Given the description of an element on the screen output the (x, y) to click on. 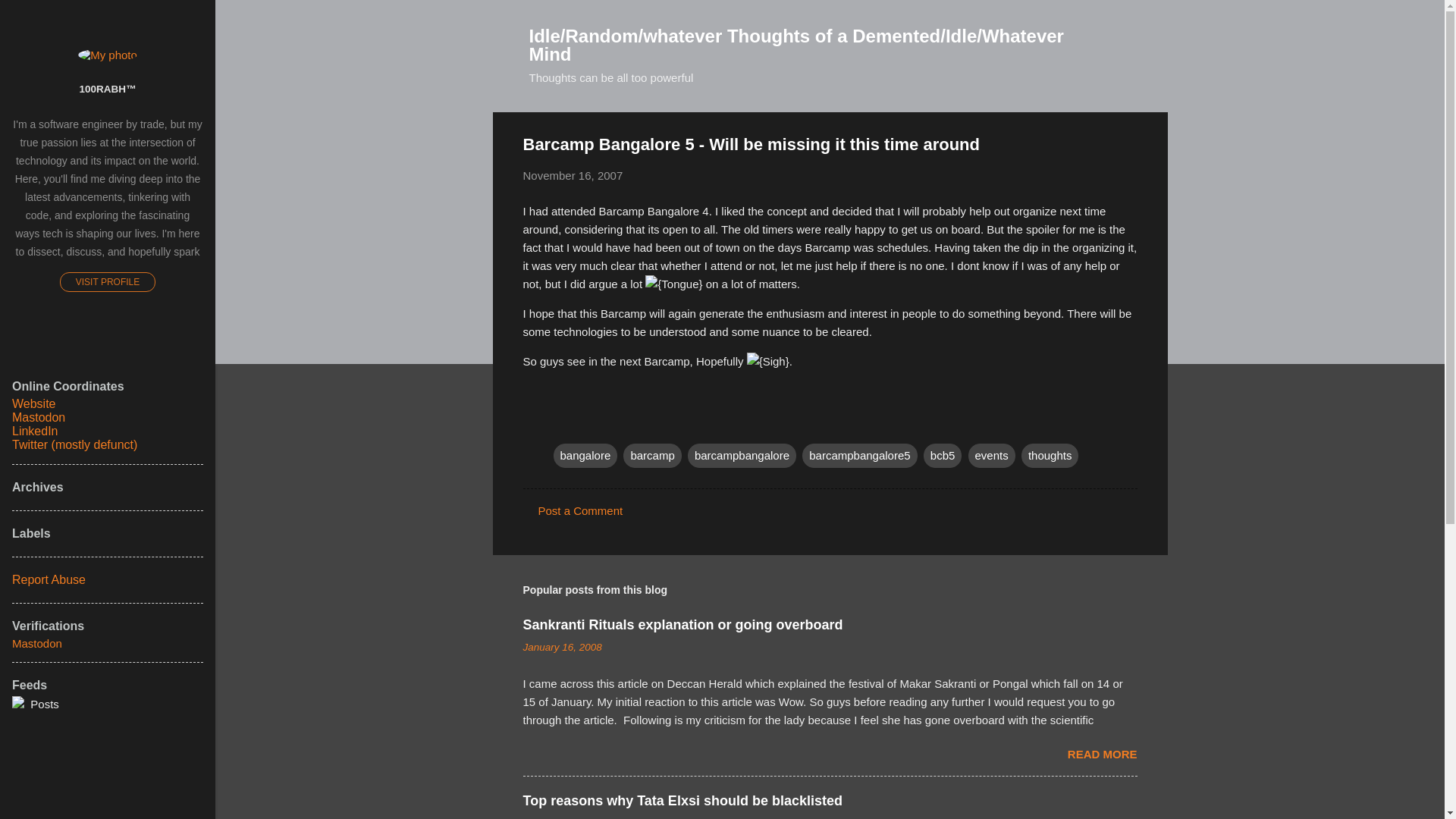
thoughts (1050, 454)
January 16, 2008 (562, 646)
permanent link (562, 646)
Search (29, 18)
bangalore (585, 454)
June 27, 2008 (555, 818)
barcampbangalore (741, 454)
events (991, 454)
permanent link (572, 174)
READ MORE (1102, 753)
